Given the description of an element on the screen output the (x, y) to click on. 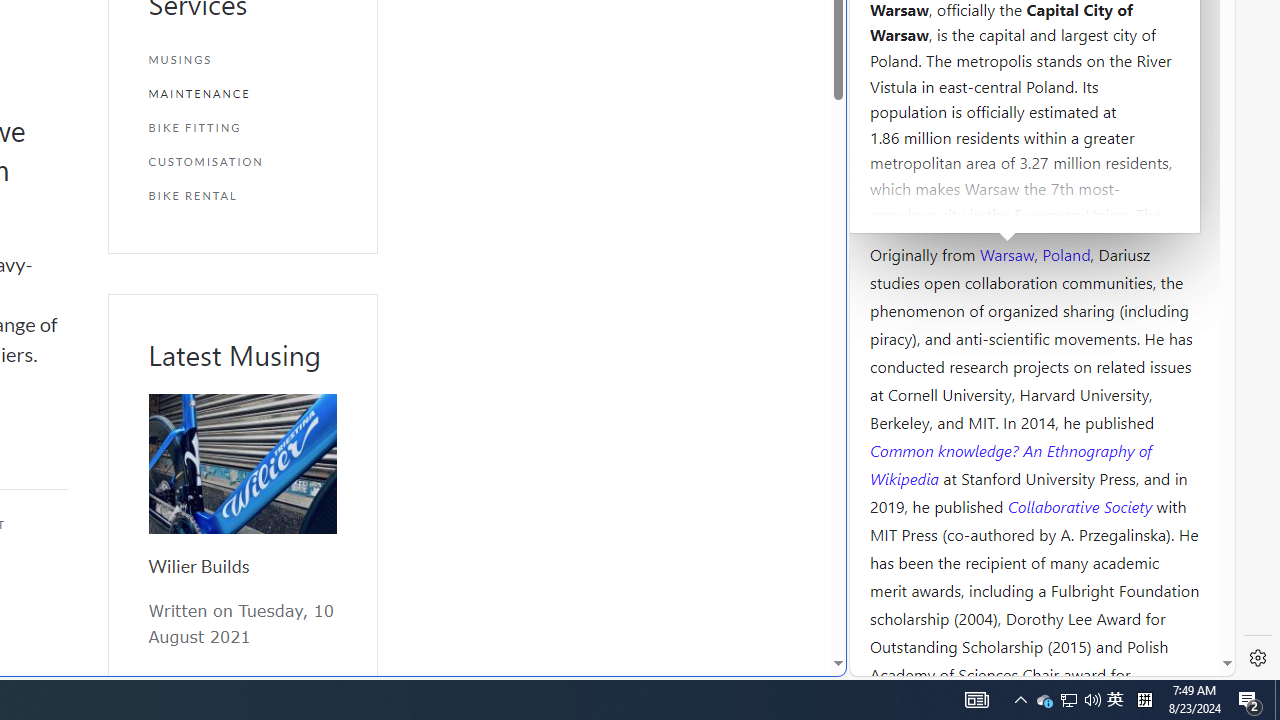
BIKE RENTAL (242, 195)
Kozminski University (1034, 136)
Harvard University (934, 205)
CUSTOMISATION (242, 161)
Collaborative Society  (1082, 505)
Common knowledge? An Ethnography of Wikipedia (1010, 463)
Wilier Builds (198, 566)
Warsaw (1006, 253)
Wilier Builds (242, 463)
Actions for this site (1129, 306)
google_privacy_policy_zh-CN.pdf (687, 482)
